Given the description of an element on the screen output the (x, y) to click on. 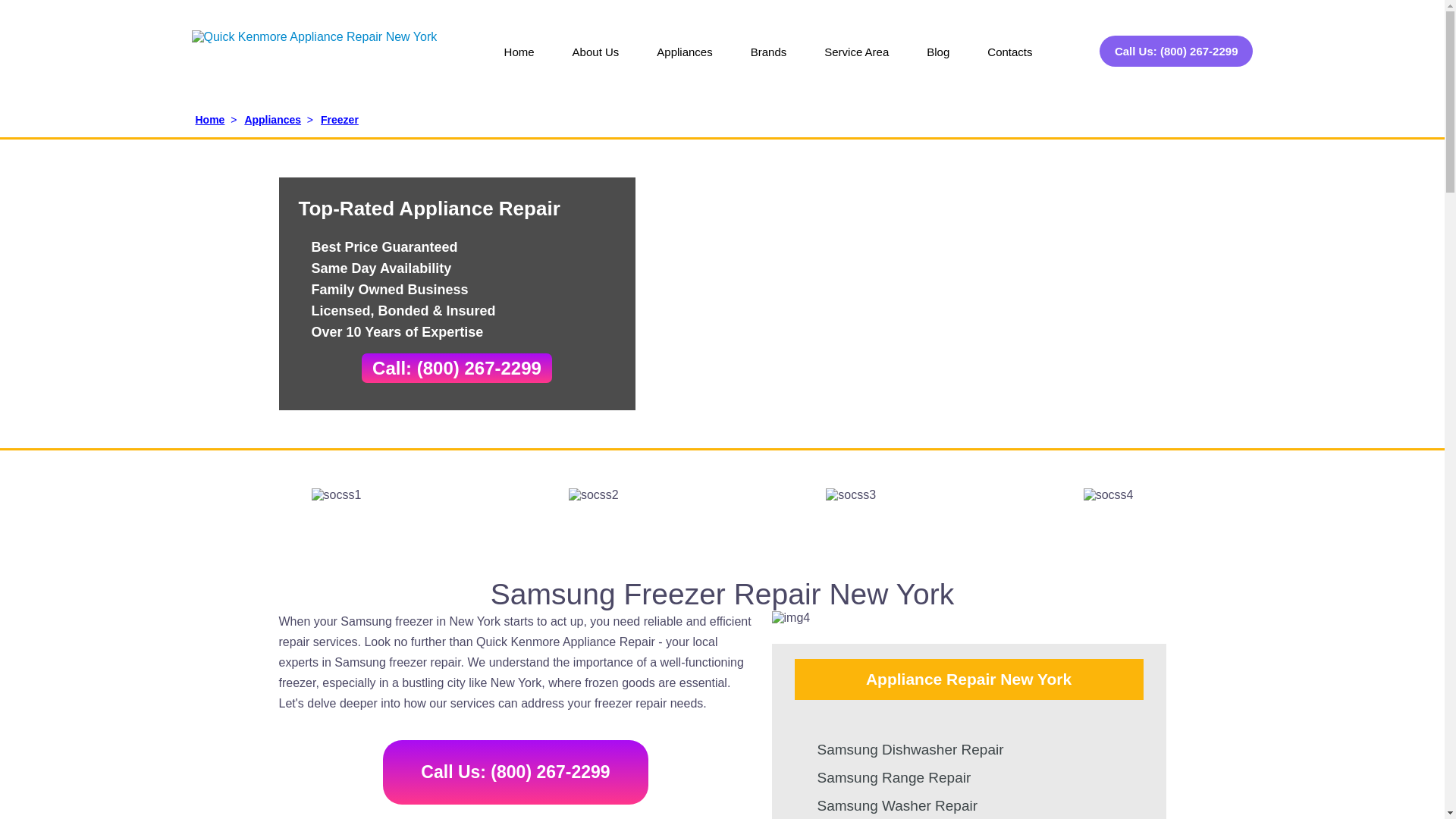
About Us (596, 62)
Home (518, 62)
Appliances (683, 62)
Brands (769, 62)
